Given the description of an element on the screen output the (x, y) to click on. 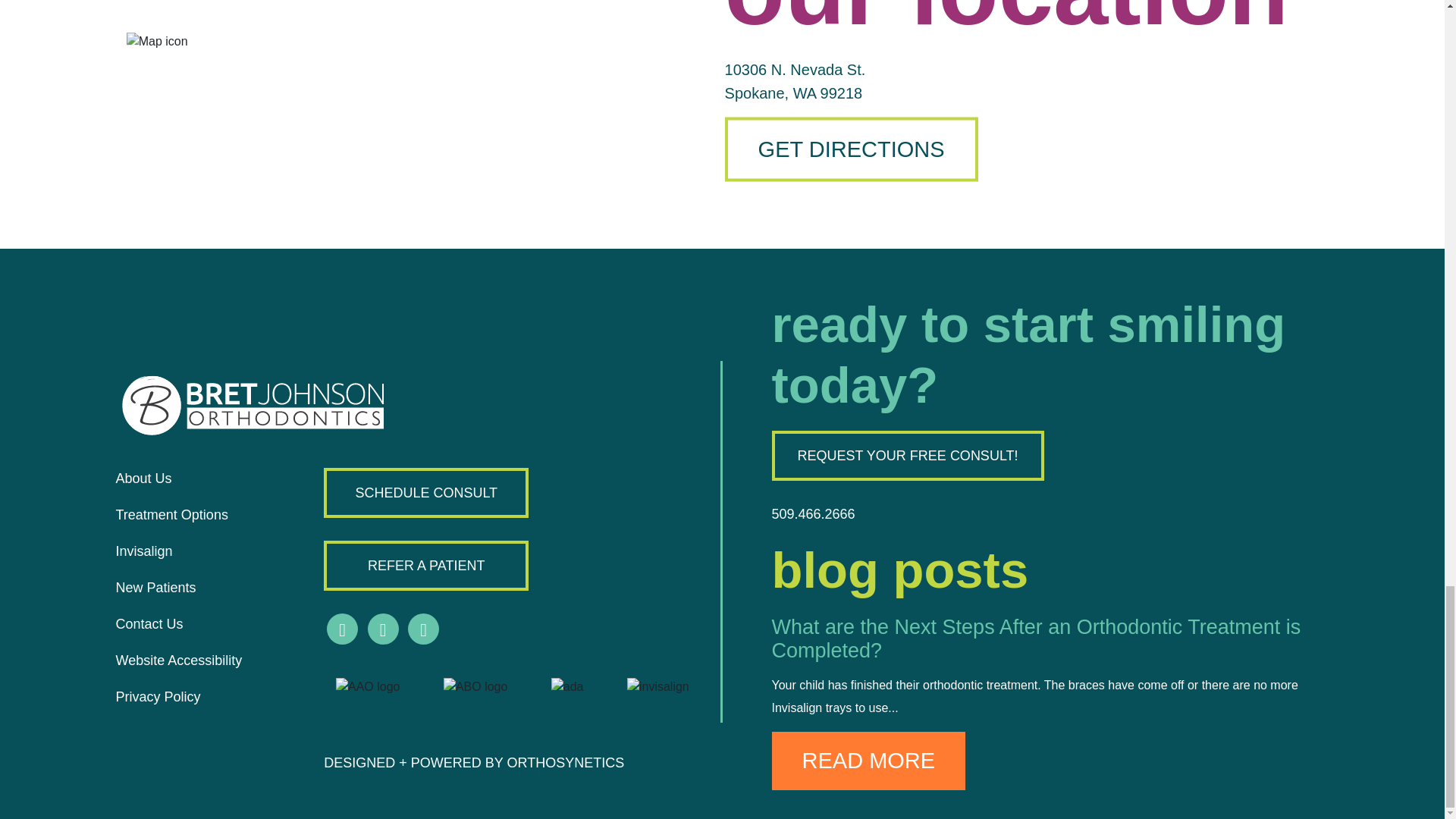
Invisalign (143, 550)
TikTok (423, 628)
Instagram (383, 628)
GET DIRECTIONS (851, 148)
Facebook (342, 628)
About Us (143, 478)
Treatment Options (171, 514)
